Given the description of an element on the screen output the (x, y) to click on. 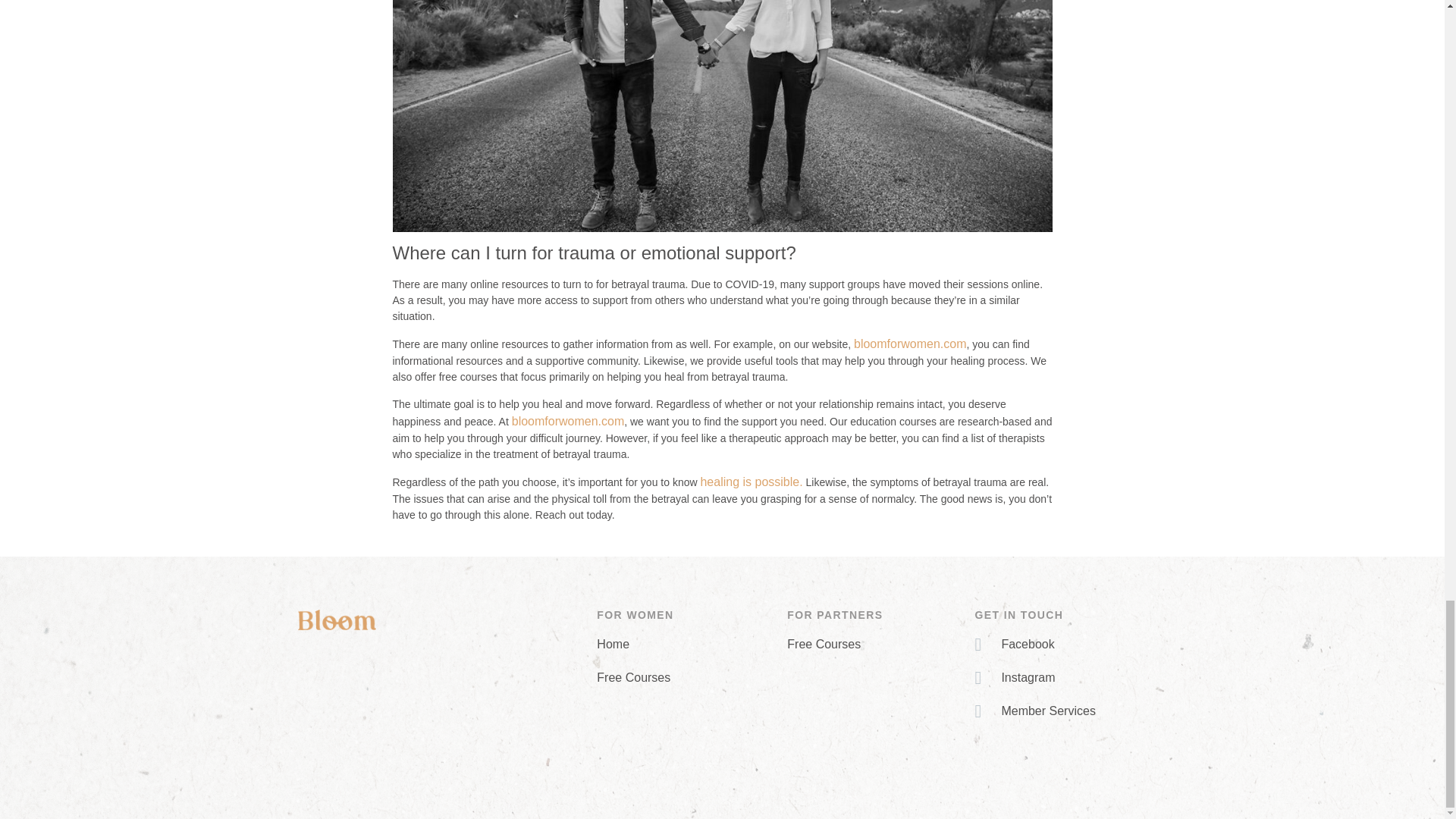
bloomforwomen.com (909, 343)
healing is possible. (751, 481)
Member Services (1060, 710)
Free Courses (683, 678)
Home (683, 644)
Free Courses (873, 644)
Instagram (1060, 678)
bloomforwomen.com (568, 420)
Facebook (1060, 644)
